Given the description of an element on the screen output the (x, y) to click on. 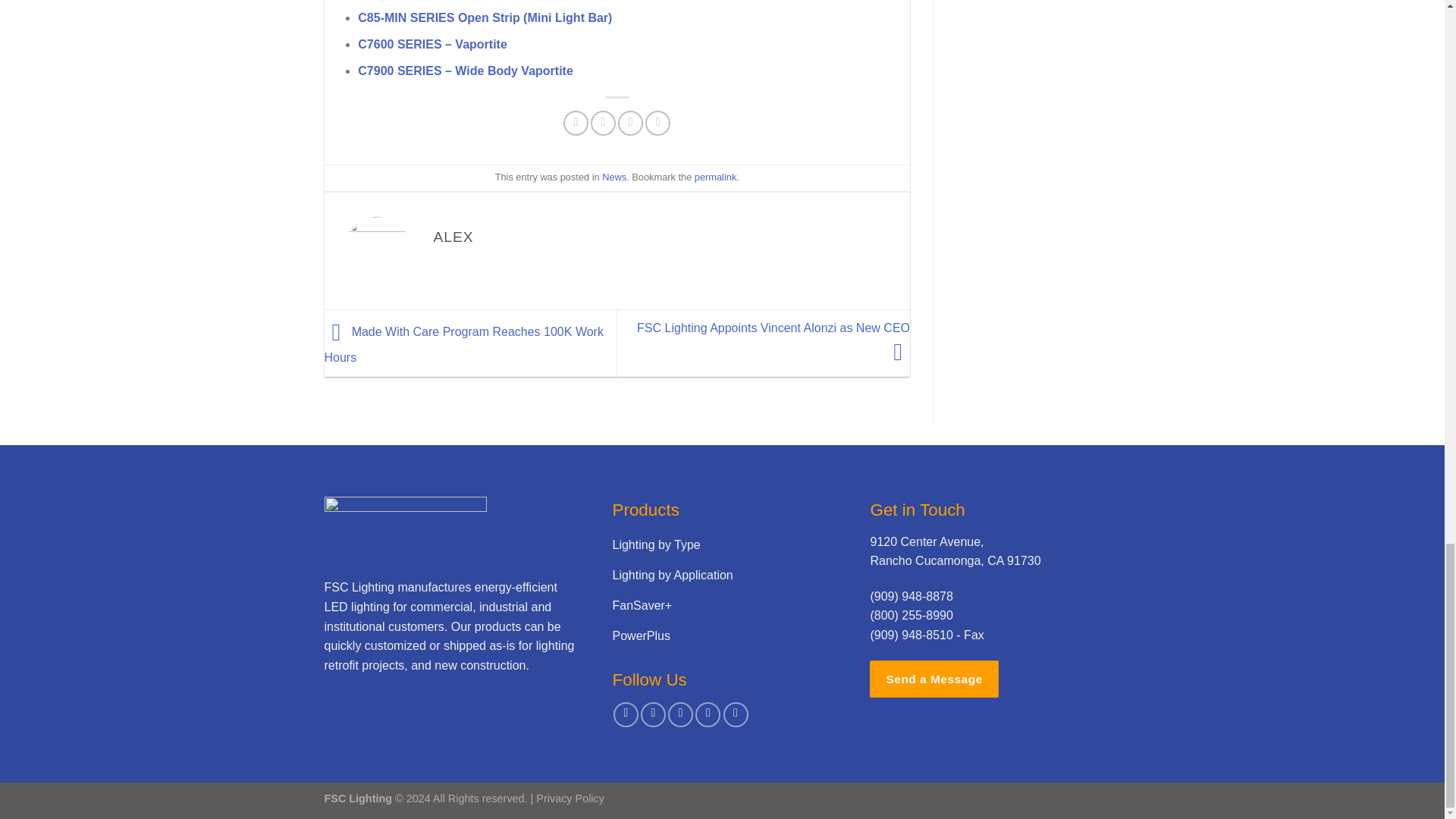
Email to a Friend (630, 122)
Follow on YouTube (735, 714)
Follow on Facebook (625, 714)
Follow on LinkedIn (707, 714)
Follow on Instagram (652, 714)
Share on Twitter (603, 122)
Share on LinkedIn (657, 122)
Share on Facebook (575, 122)
Follow on Twitter (680, 714)
